Given the description of an element on the screen output the (x, y) to click on. 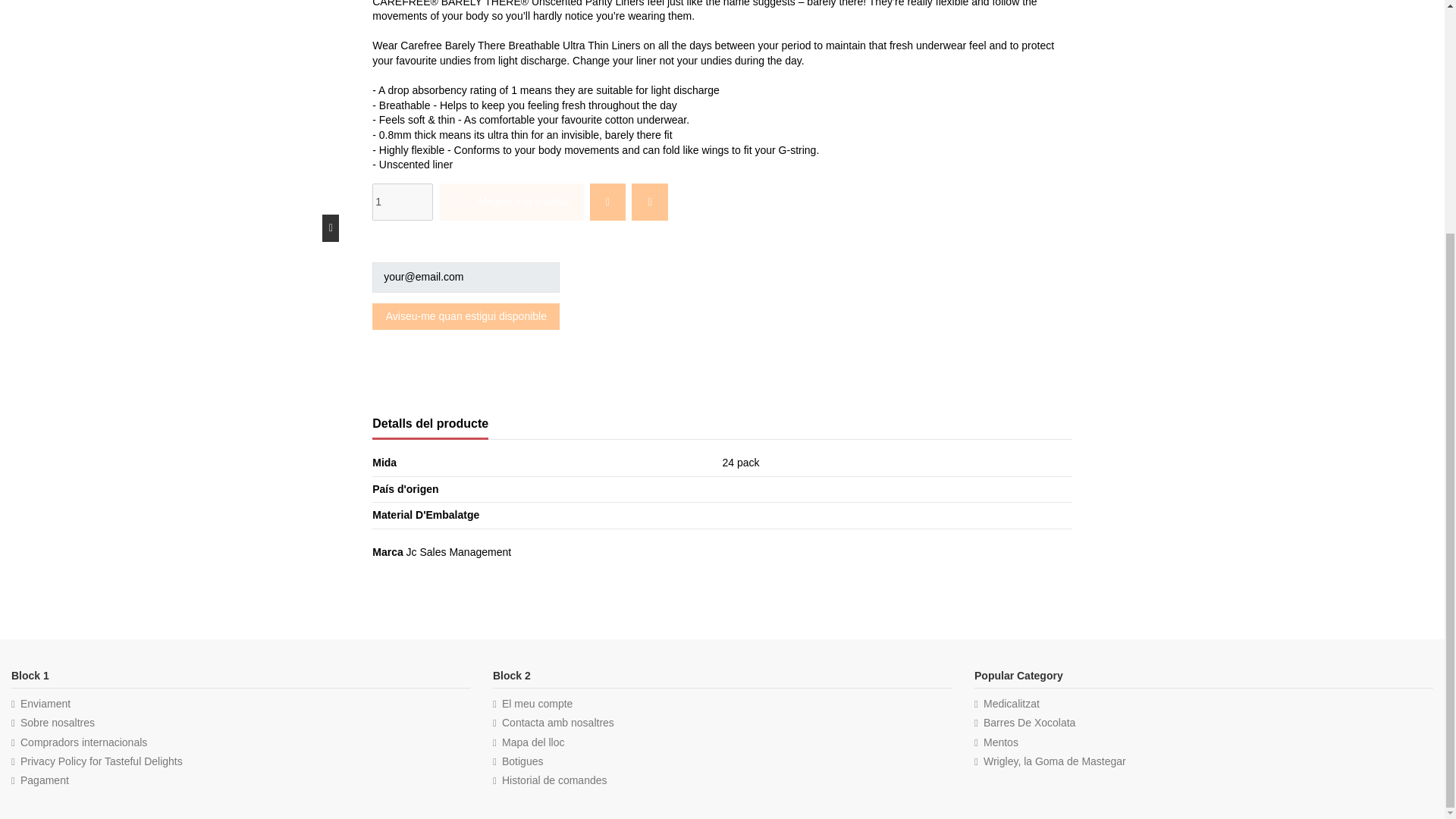
Aviseu-me quan estigui disponible (465, 316)
1 (402, 201)
